Given the description of an element on the screen output the (x, y) to click on. 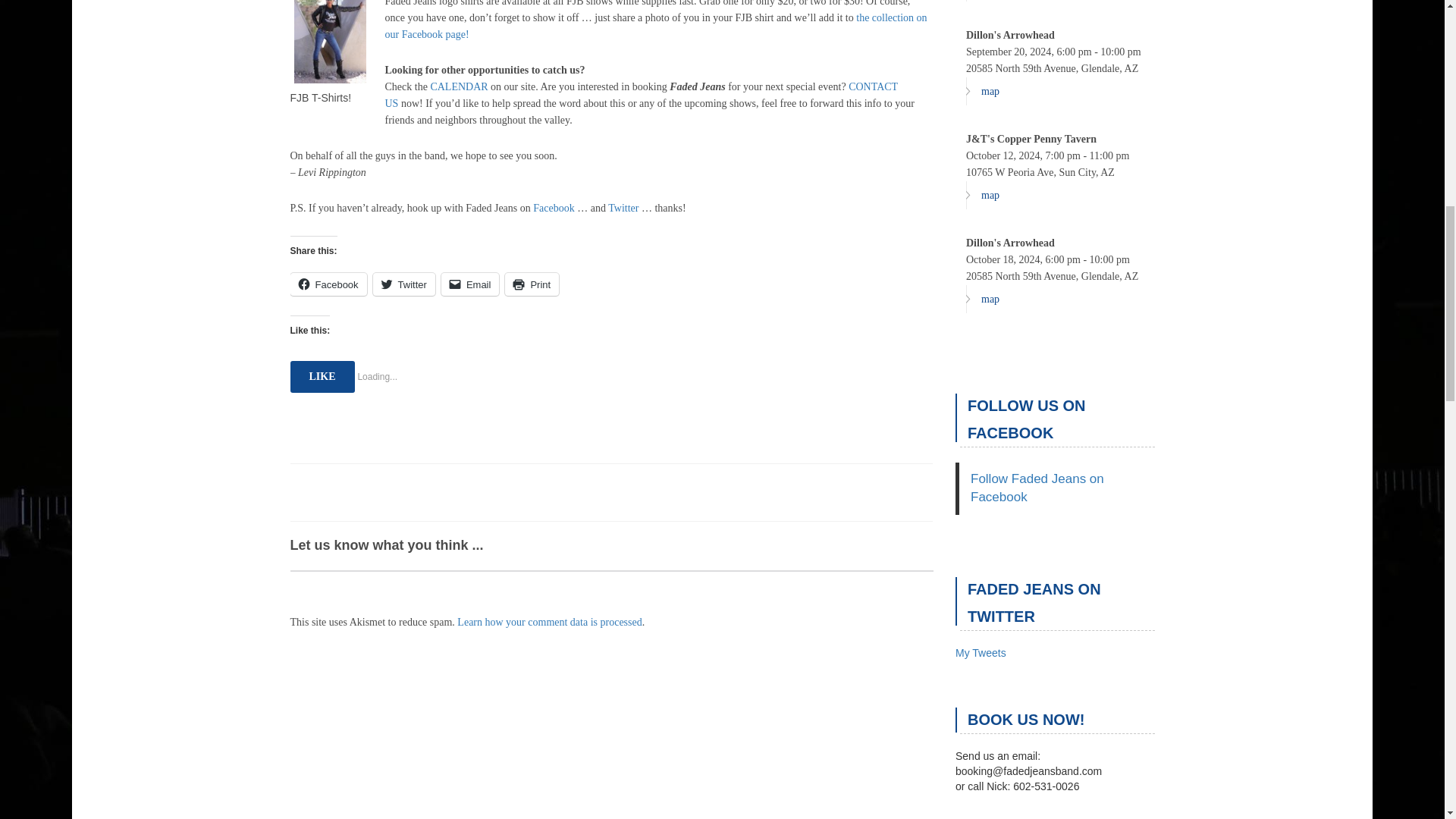
Learn how your comment data is processed (549, 622)
map (982, 90)
Print (532, 283)
Twitter (403, 283)
Calendar (458, 86)
CONTACT US (641, 94)
Next Post (915, 648)
Twitter (623, 207)
Click to print (532, 283)
Email (470, 283)
map (982, 298)
map (982, 0)
Like or Reblog (611, 415)
the collection on our Facebook page! (656, 26)
